Given the description of an element on the screen output the (x, y) to click on. 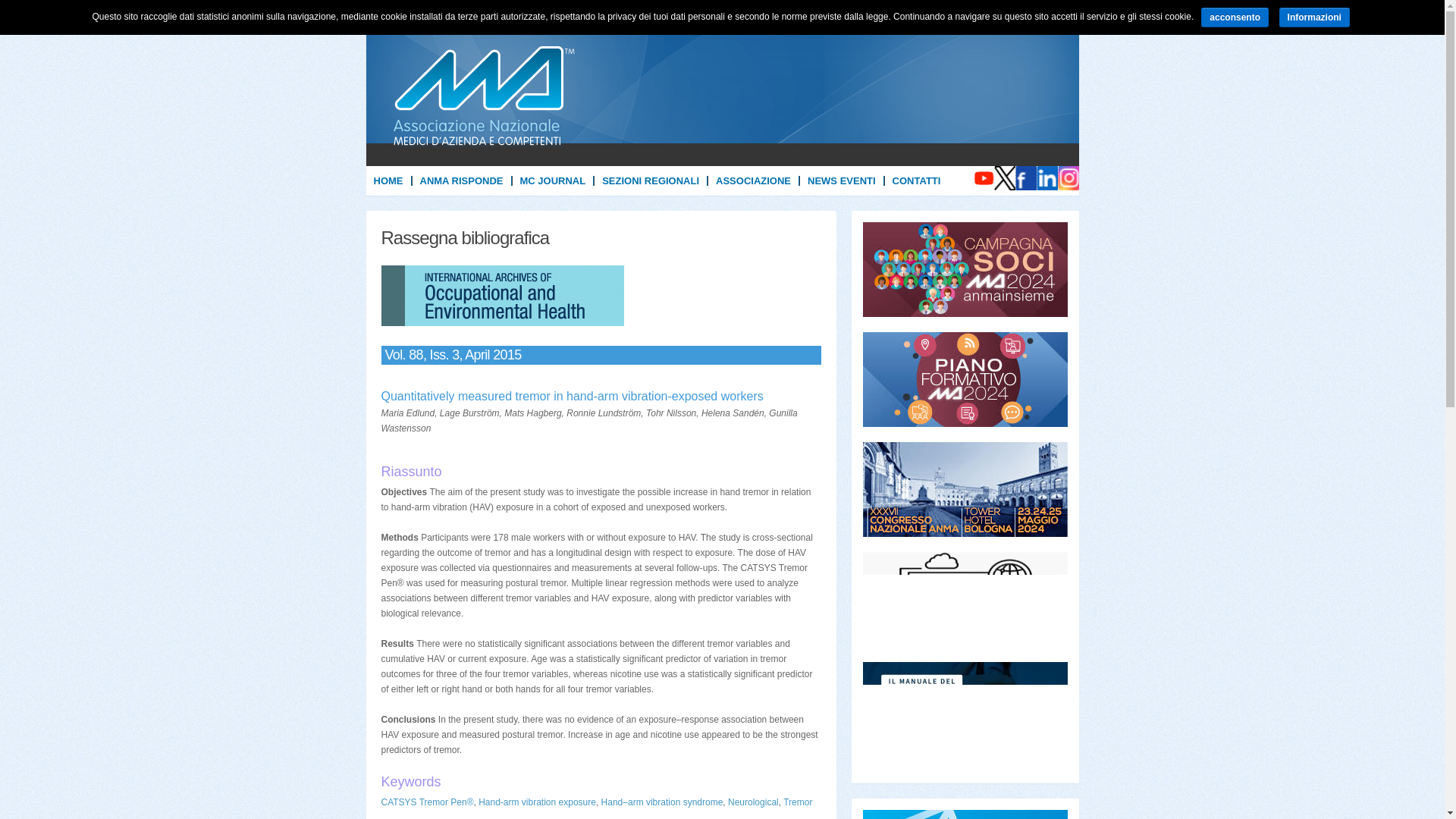
Tremor (797, 801)
NEWS EVENTI (841, 180)
ANMA RISPONDE (461, 180)
SEZIONI REGIONALI (650, 180)
Vol. 88, Iss. 3, April 2015 (600, 354)
HOME (387, 180)
MC JOURNAL (553, 180)
Hand-arm vibration exposure (537, 801)
Neurological (753, 801)
CONTATTI (917, 180)
